Given the description of an element on the screen output the (x, y) to click on. 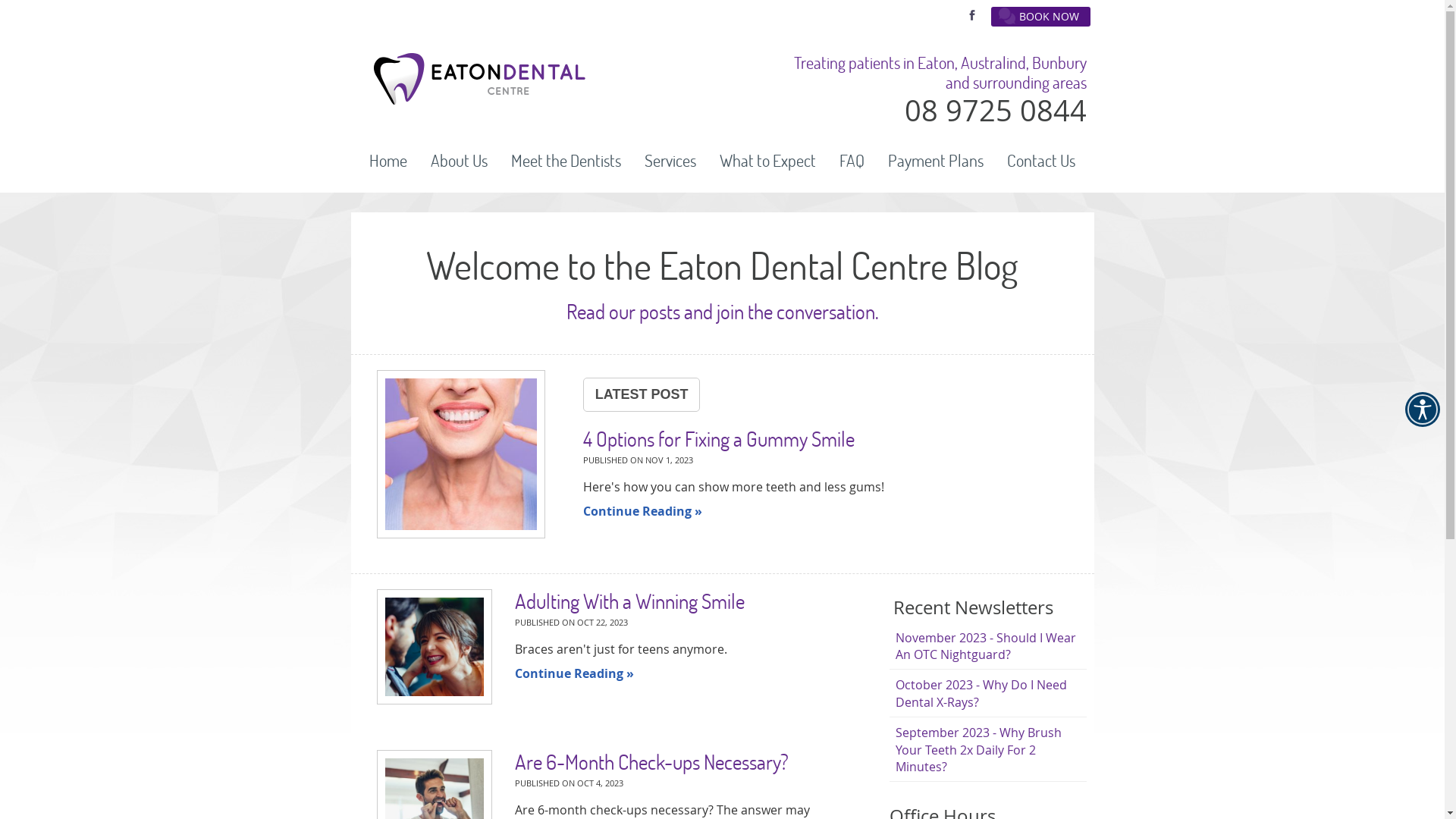
Home Element type: text (388, 160)
4 Options for Fixing a Gummy Smile Element type: text (718, 438)
November 2023 - Should I Wear An OTC Nightguard? Element type: text (986, 646)
LATEST POST Element type: text (641, 394)
Eaton Dental Centre Element type: text (478, 99)
About Us Element type: text (459, 160)
Adulting With a Winning Smile Element type: text (629, 600)
Payment Plans Element type: text (935, 160)
Contact Us Element type: text (1040, 160)
Services Element type: text (670, 160)
4 Options for Fixing a Gummy Smile Element type: hover (460, 456)
October 2023 - Why Do I Need Dental X-Rays? Element type: text (986, 693)
BOOK NOW Element type: text (1039, 16)
Meet the Dentists Element type: text (566, 160)
Adulting With a Winning Smile Element type: hover (434, 646)
What to Expect Element type: text (768, 160)
Are 6-Month Check-ups Necessary? Element type: text (651, 761)
FAQ Element type: text (852, 160)
